Given the description of an element on the screen output the (x, y) to click on. 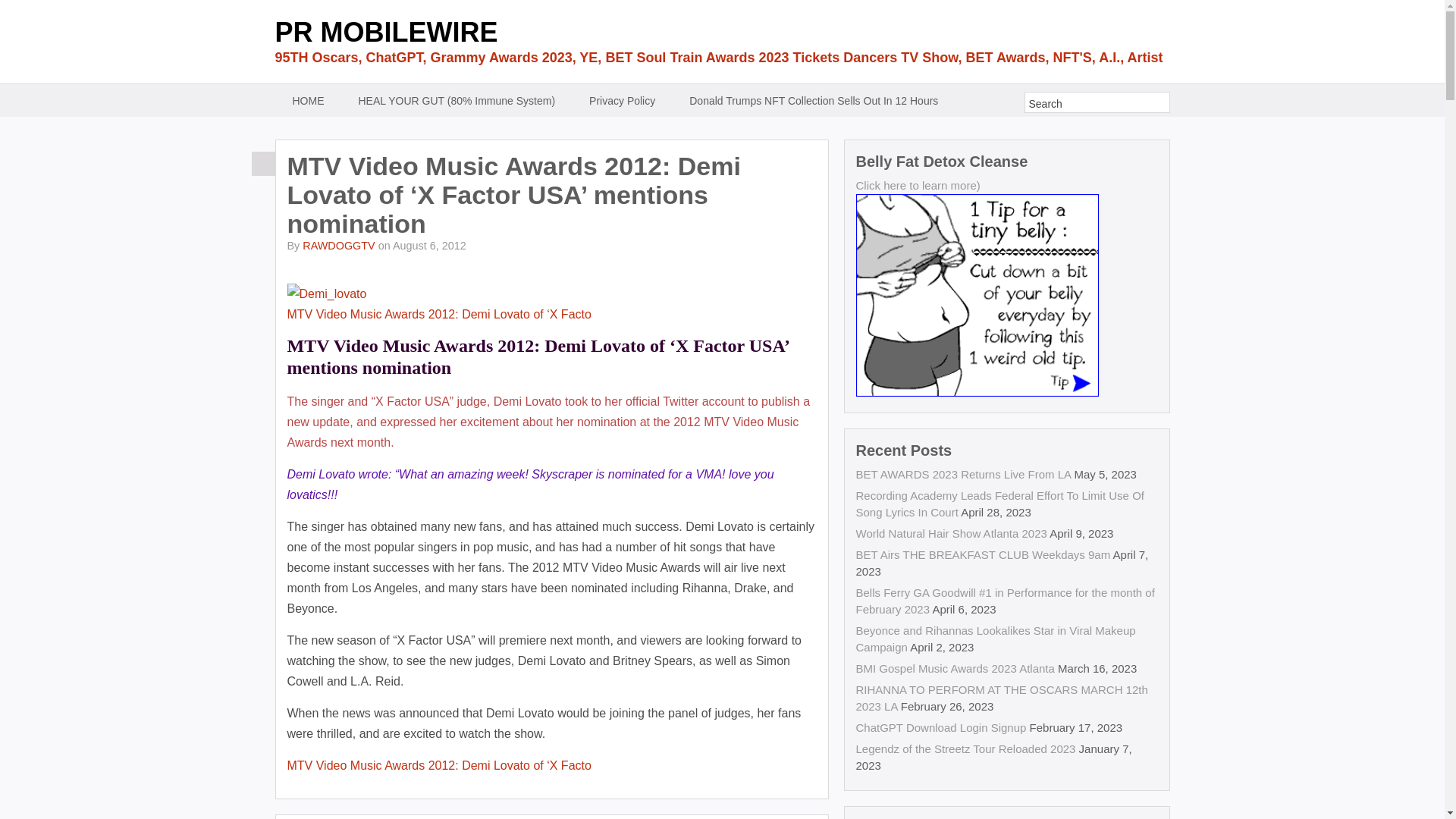
BET AWARDS 2023 Returns Live From LA (963, 473)
HOME (307, 100)
ChatGPT Download Login Signup (941, 727)
BET Airs THE BREAKFAST CLUB Weekdays 9am (982, 554)
BMI Gospel Music Awards 2023 Atlanta (955, 667)
View all posts by RAWDOGGTV (338, 245)
RAWDOGGTV (338, 245)
Privacy Policy (621, 100)
